Given the description of an element on the screen output the (x, y) to click on. 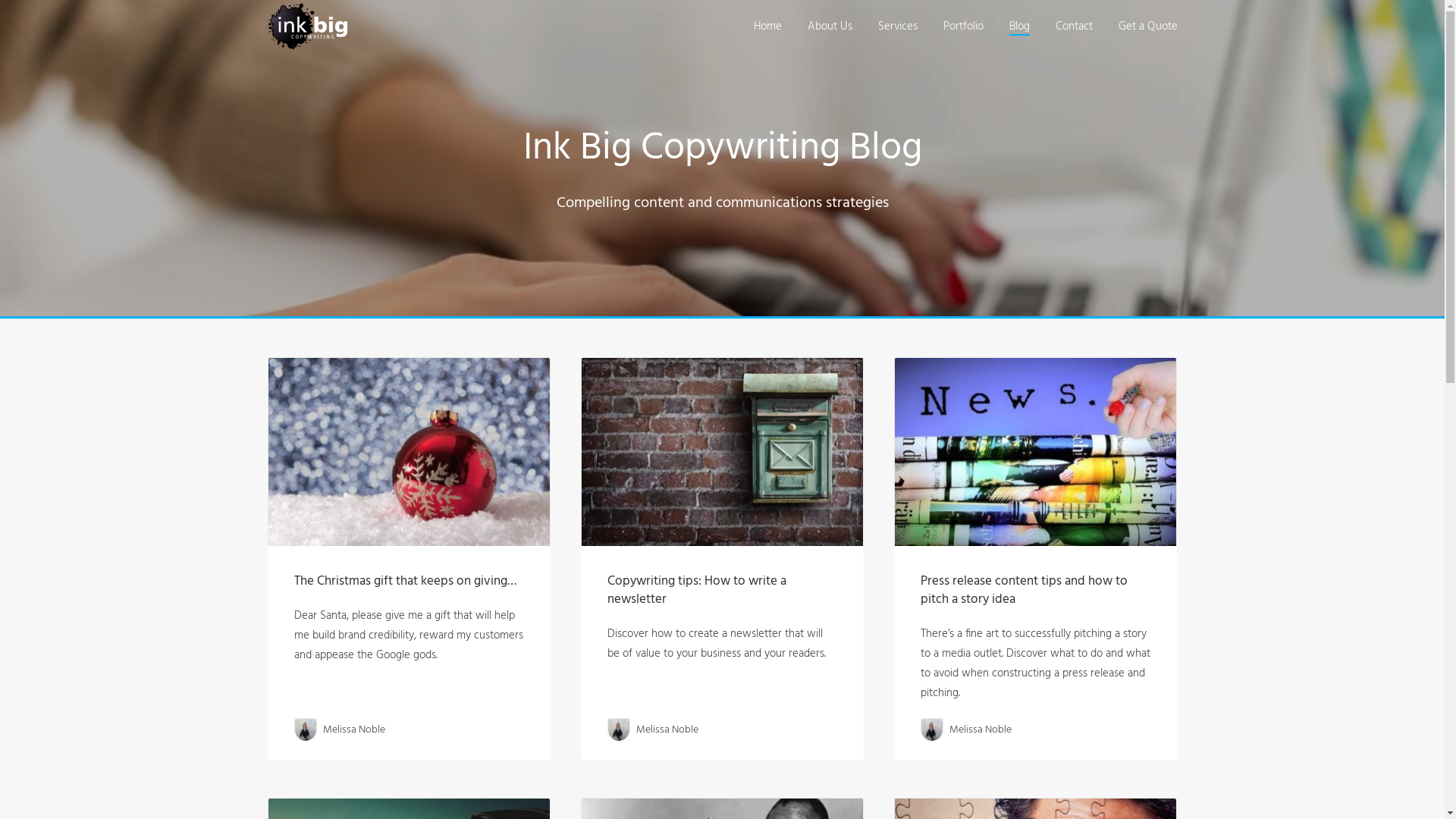
Copywriting tips: How to write a newsletter Element type: text (696, 590)
Portfolio Element type: text (963, 26)
Services Element type: text (897, 26)
Get a Quote Element type: text (1146, 26)
About Us Element type: text (828, 26)
Contact Element type: text (1073, 26)
Blog Element type: text (1018, 26)
Home Element type: text (767, 26)
Press release content tips and how to pitch a story idea Element type: text (1023, 590)
